Given the description of an element on the screen output the (x, y) to click on. 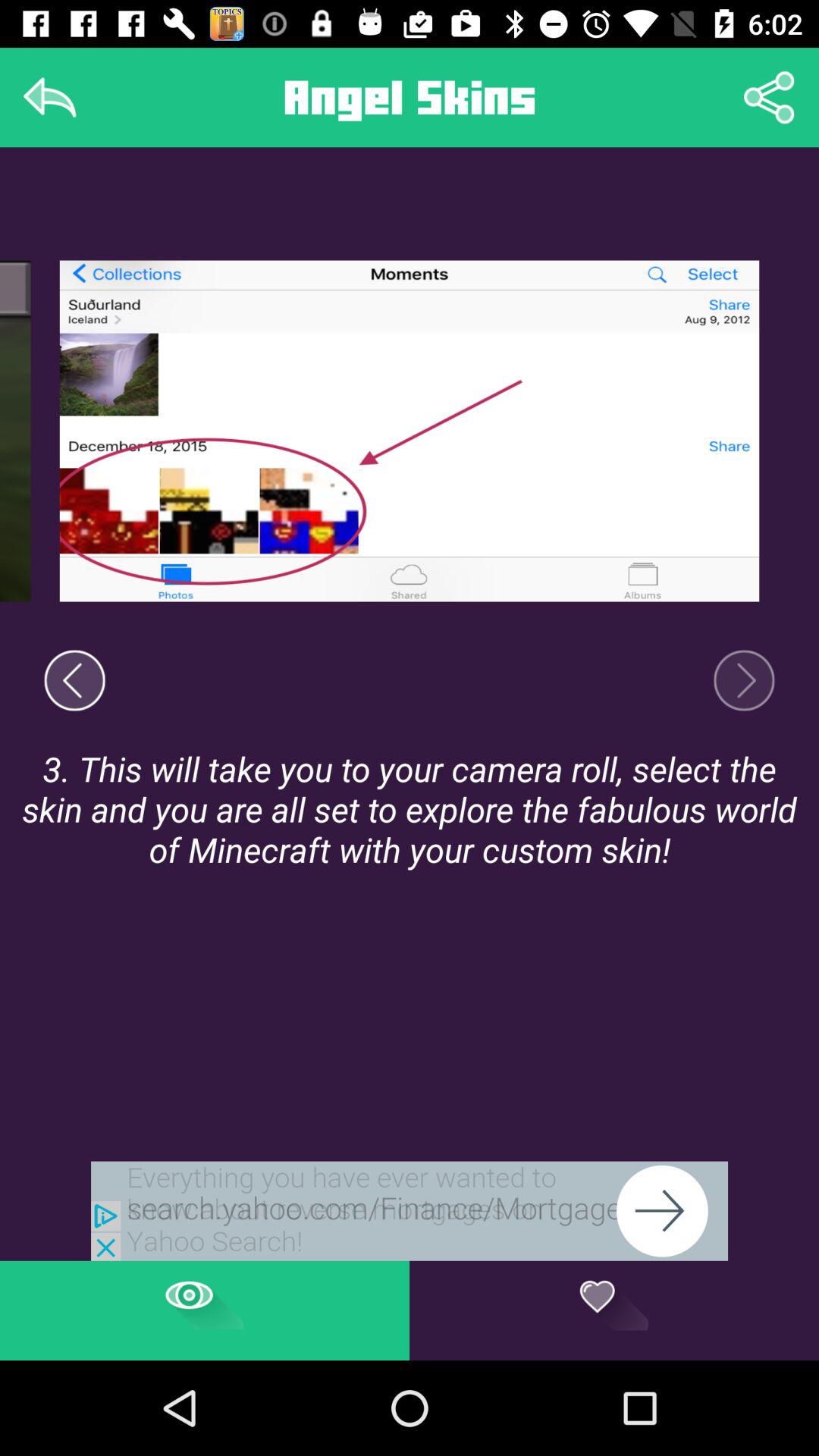
go to share option (769, 97)
